Given the description of an element on the screen output the (x, y) to click on. 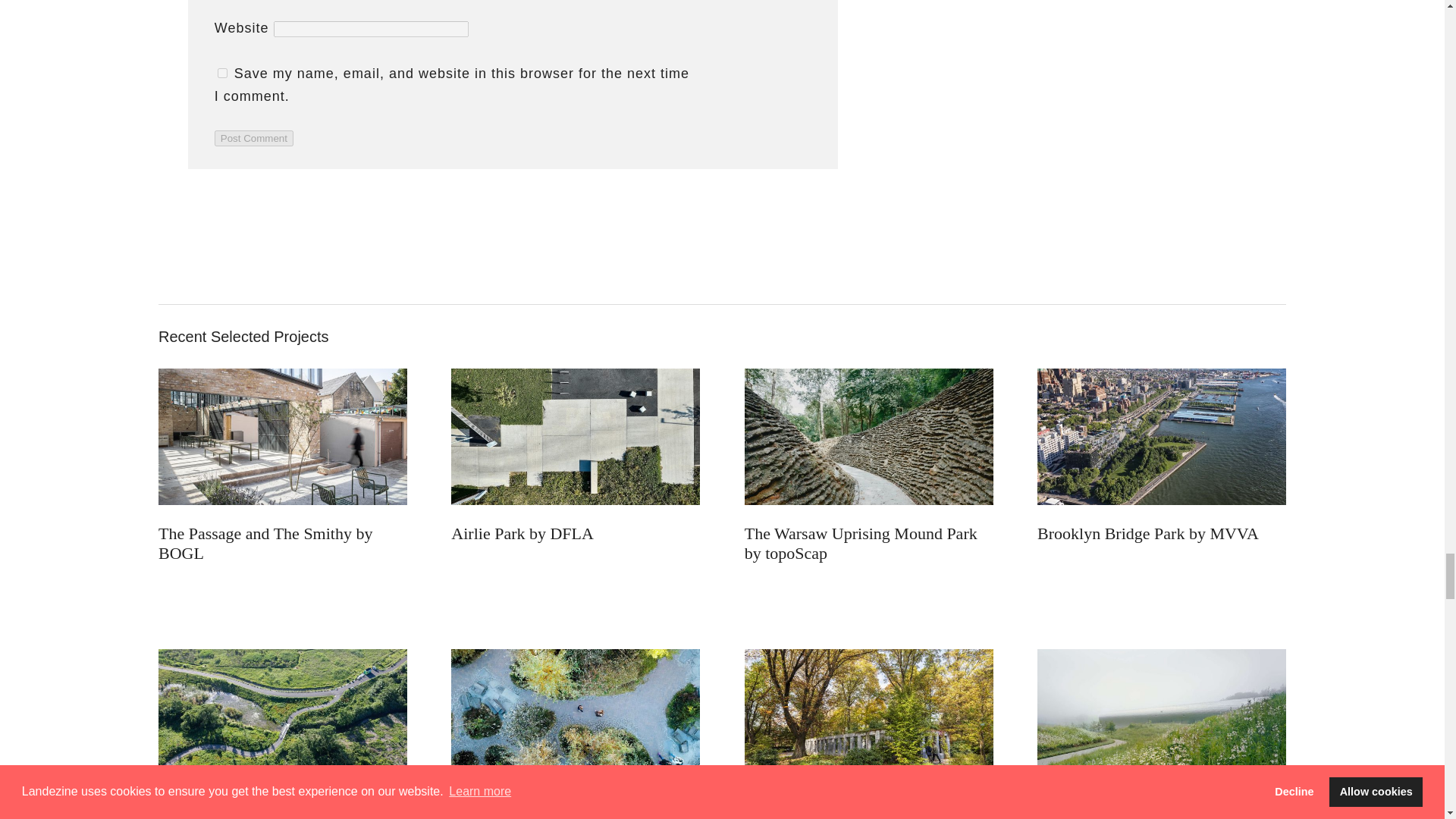
Post Comment (254, 138)
yes (221, 72)
